Given the description of an element on the screen output the (x, y) to click on. 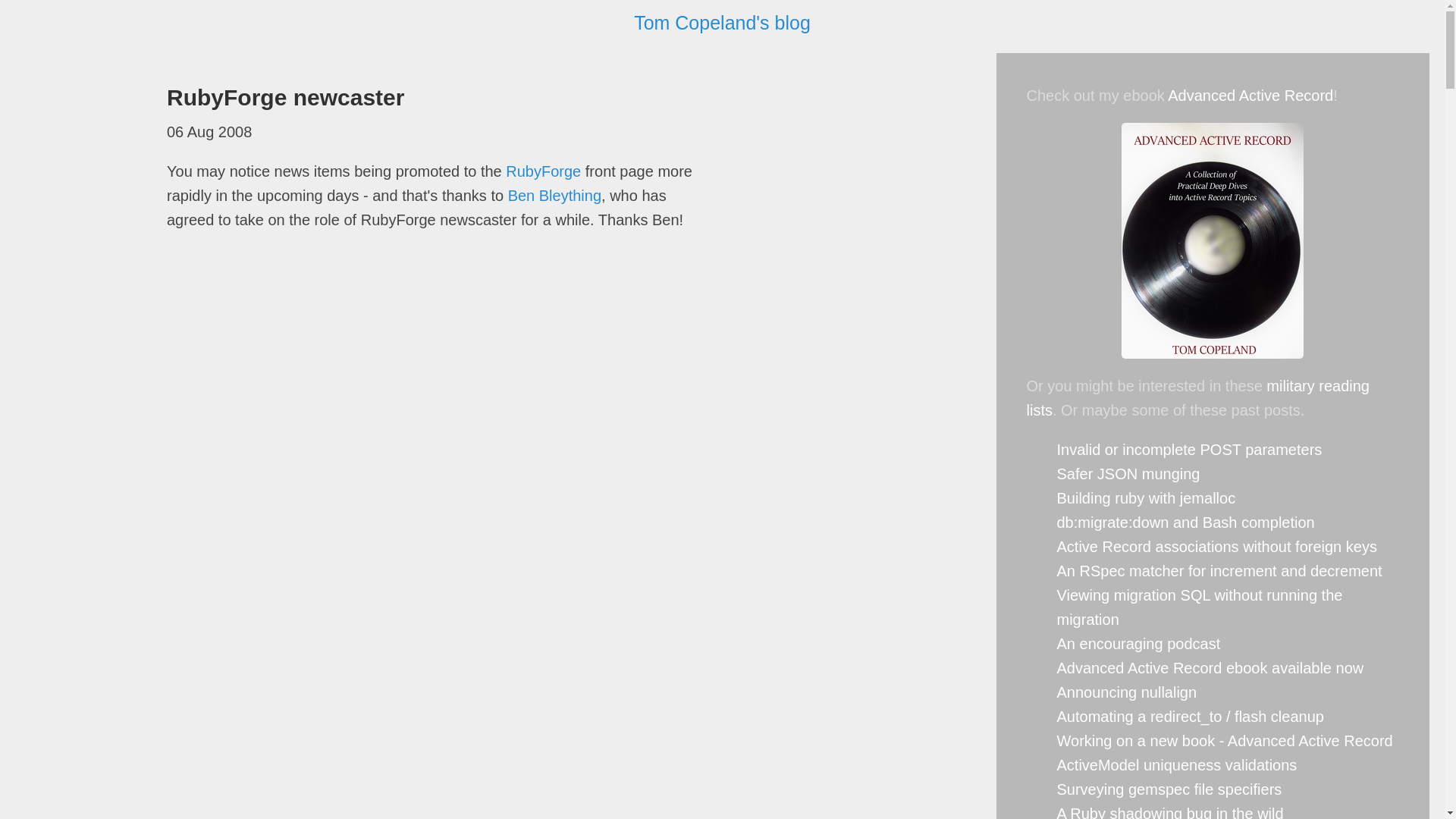
Active Record associations without foreign keys (1217, 546)
ActiveModel uniqueness validations (1177, 764)
Tom Copeland's blog (721, 22)
Advanced Active Record ebook available now (1210, 668)
Surveying gemspec file specifiers (1169, 789)
RubyForge (542, 170)
Advanced Active Record (1250, 95)
db:migrate:down and Bash completion (1185, 522)
Announcing nullalign (1126, 692)
Safer JSON munging (1128, 474)
Ben Bleything (554, 194)
Invalid or incomplete POST parameters (1189, 449)
A Ruby shadowing bug in the wild (1170, 812)
military reading lists (1198, 397)
Viewing migration SQL without running the migration (1199, 607)
